Given the description of an element on the screen output the (x, y) to click on. 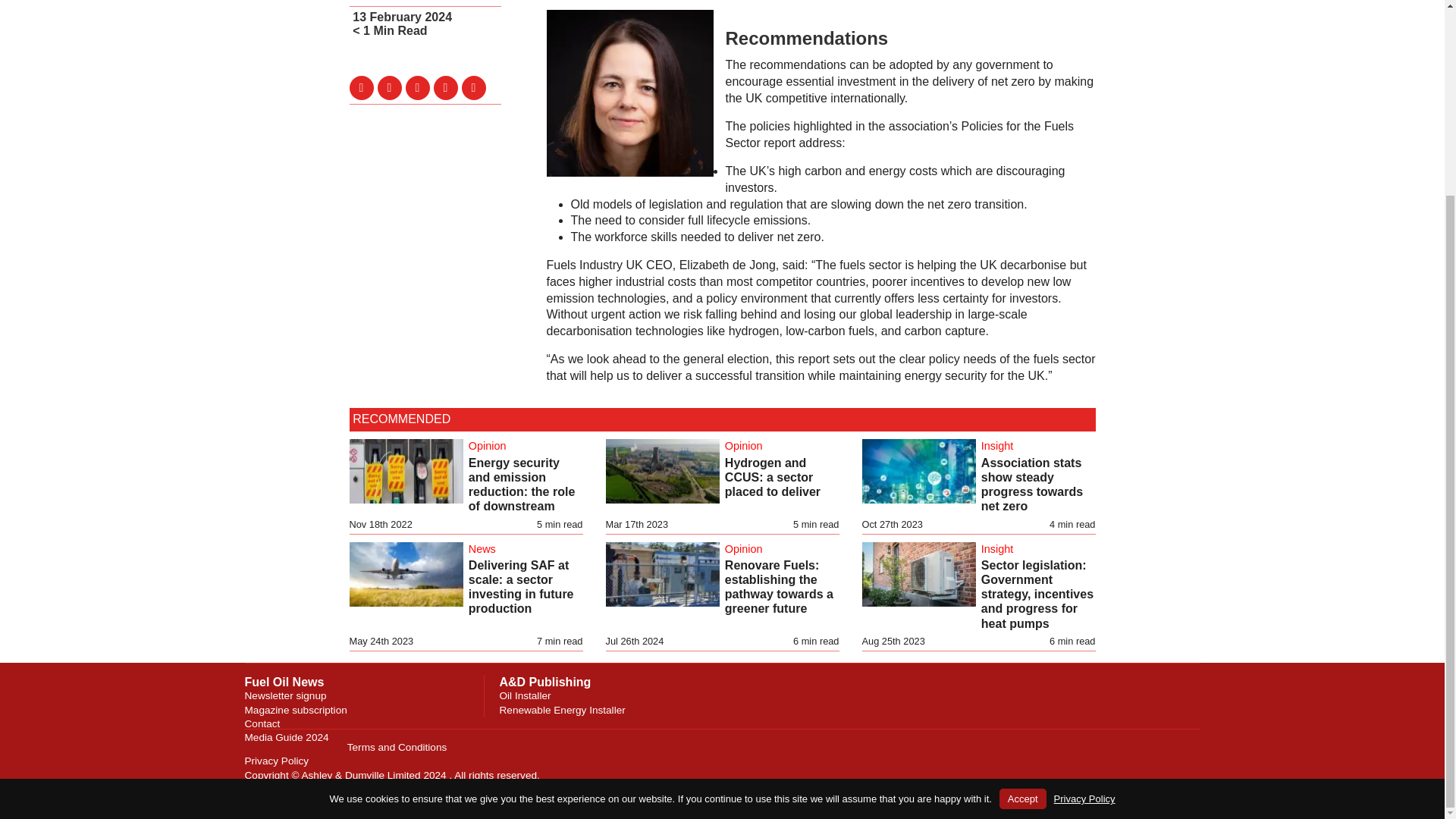
Hydrogen and CCUS: a sector placed to deliver (773, 476)
Share on Twitter (360, 87)
Share on LinkedIn (416, 87)
Share on WhatsApp (472, 87)
